Given the description of an element on the screen output the (x, y) to click on. 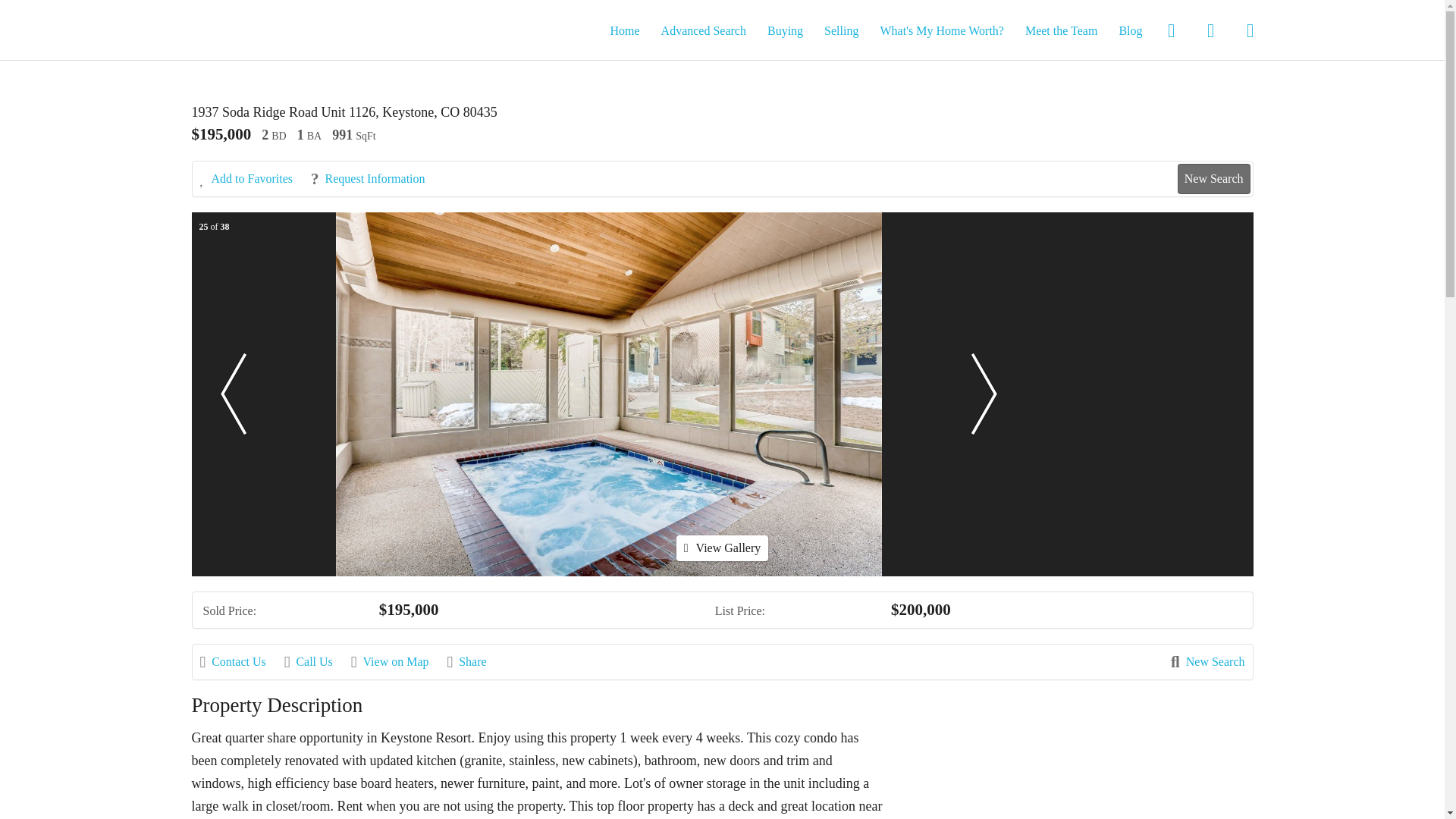
New Search (1213, 178)
Add to Favorites (254, 178)
Request Information (375, 178)
Share (474, 661)
View Gallery (722, 548)
Selling (841, 30)
Blog (1129, 30)
Contact Us (240, 661)
View on Map (397, 661)
New Search (1207, 661)
What's My Home Worth? (941, 30)
Home (624, 30)
Call Us (315, 661)
Advanced Search (703, 30)
Meet the Team (1061, 30)
